Given the description of an element on the screen output the (x, y) to click on. 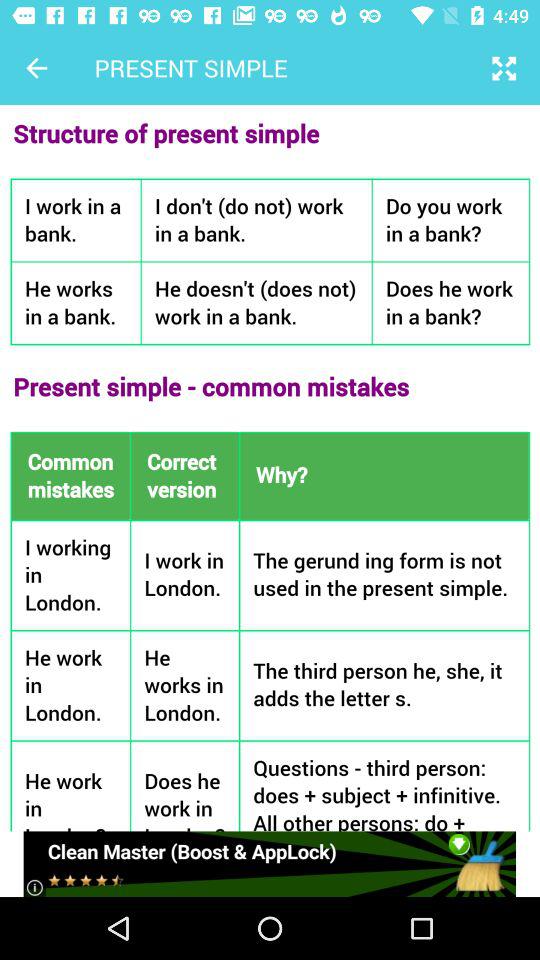
view related content/descriptions (270, 468)
